Given the description of an element on the screen output the (x, y) to click on. 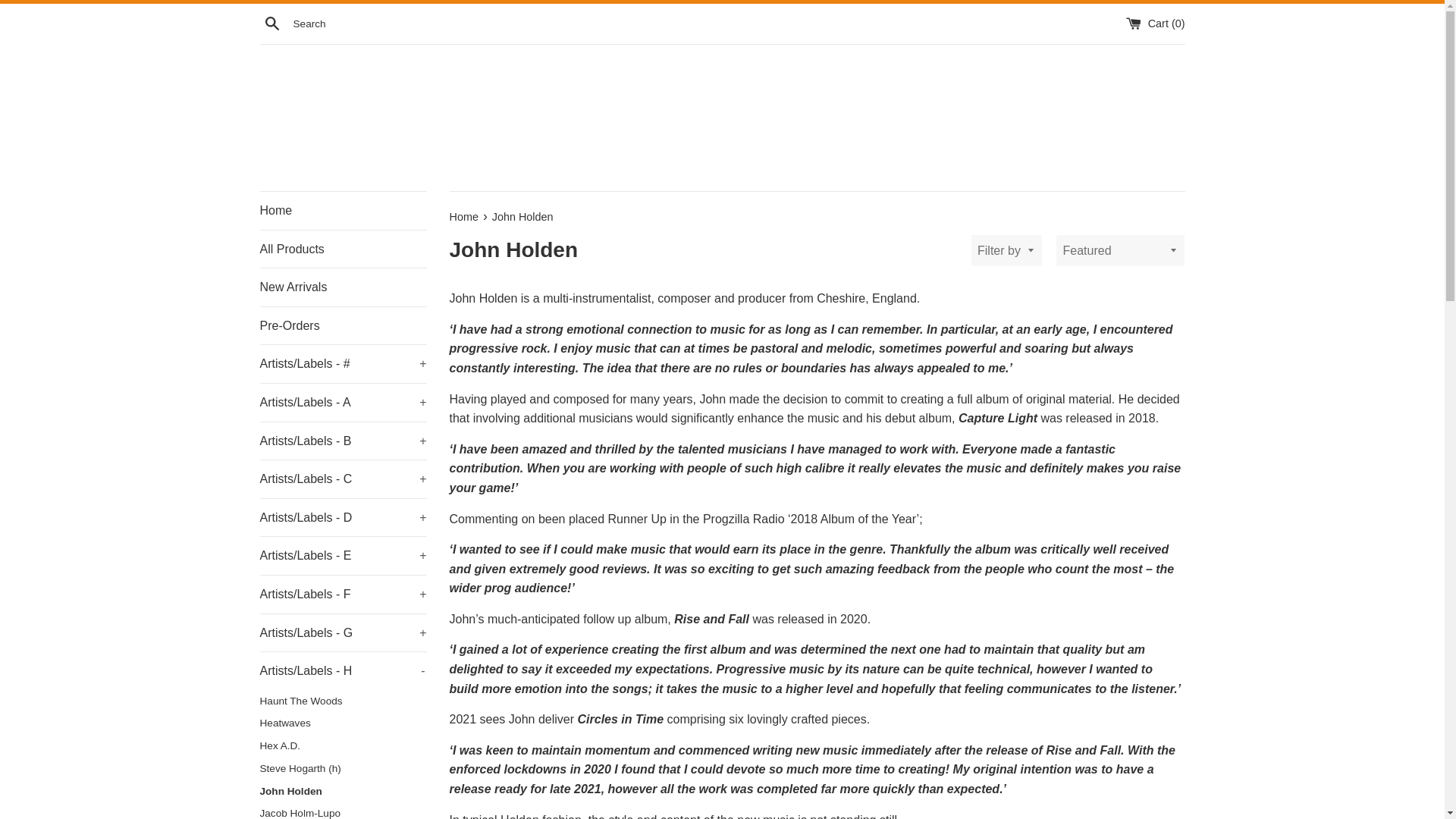
Pre-Orders (342, 325)
All Products (342, 249)
Home (342, 210)
New Arrivals (342, 287)
Back to the frontpage (464, 216)
Search (271, 22)
